Given the description of an element on the screen output the (x, y) to click on. 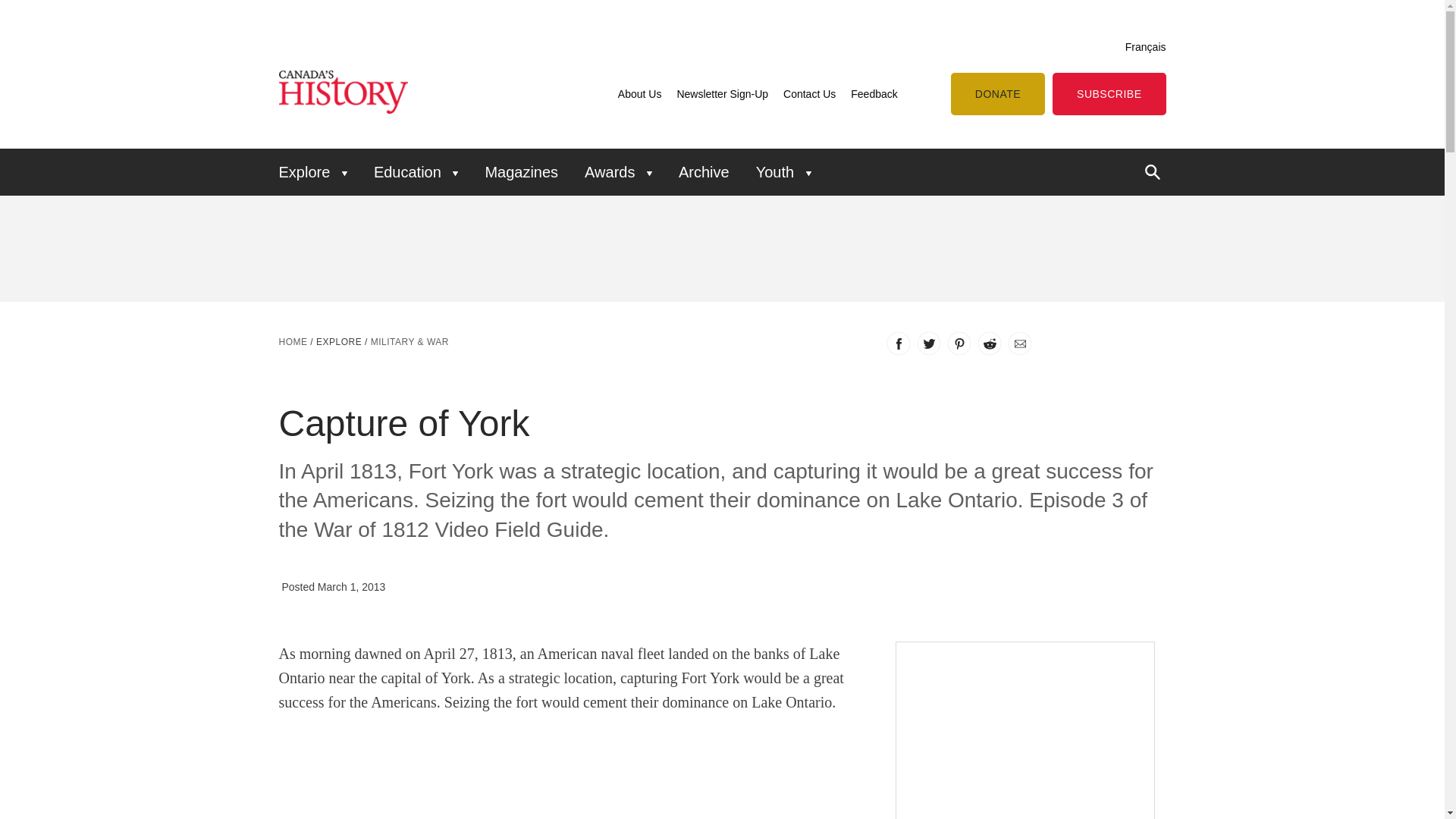
SUBSCRIBE (1109, 93)
Explore (318, 171)
Home (293, 341)
3rd party ad content (606, 248)
DONATE (997, 93)
Contact Us (809, 93)
Feedback (873, 93)
3rd party ad content (1001, 248)
Newsletter Sign-Up (722, 93)
3rd party ad content (1024, 738)
Education (416, 171)
About Us (639, 93)
Explore (338, 341)
search-icon (1152, 171)
